Given the description of an element on the screen output the (x, y) to click on. 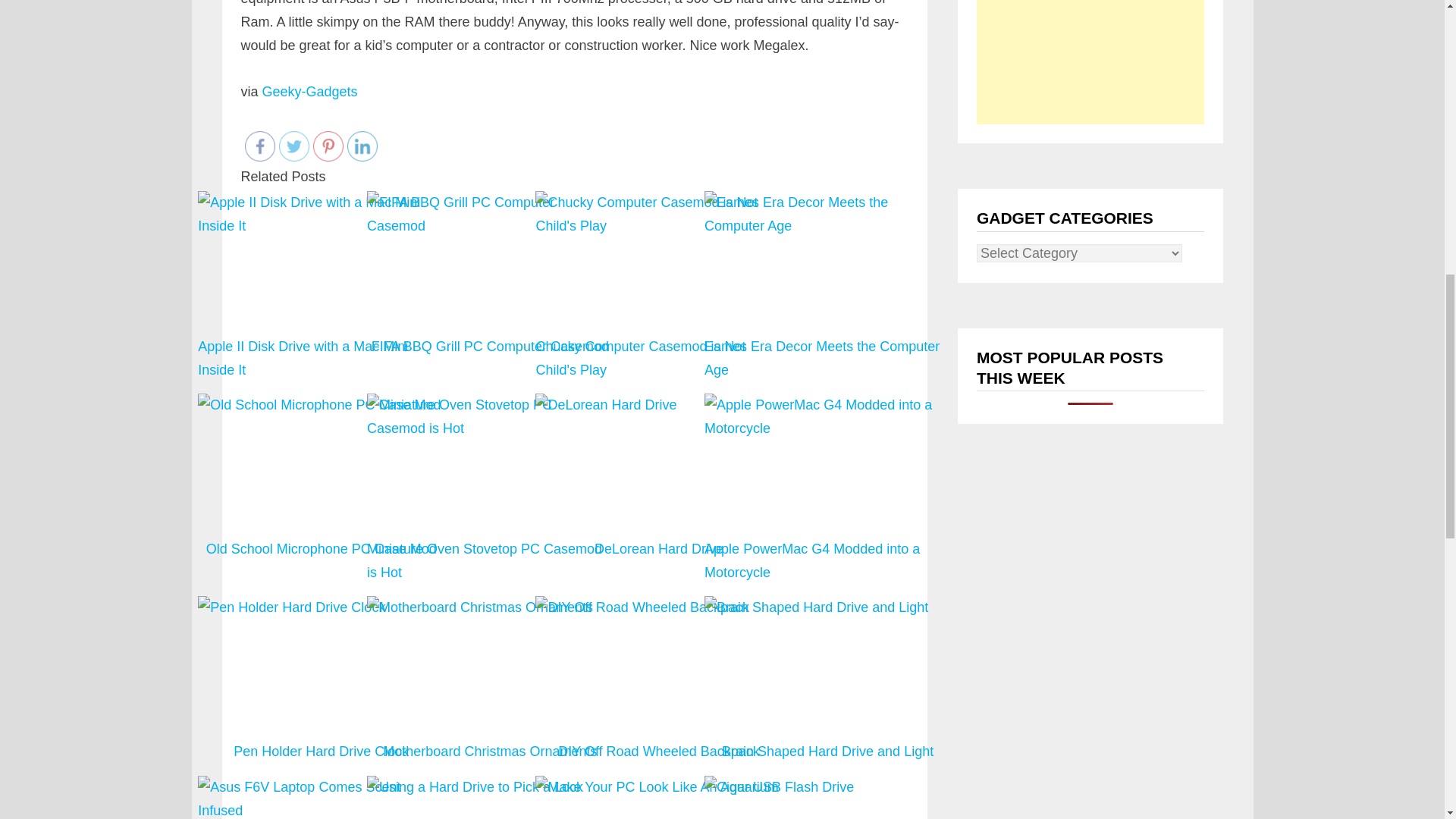
Twitter (293, 146)
LinkedIn (362, 146)
Geeky-Gadgets (310, 91)
Apple II Disk Drive with a Mac Mini Inside It (320, 286)
Using a Hard Drive to Pick a Lock (490, 796)
Asus F6V Laptop Comes Scent Infused (320, 796)
Pen Holder Hard Drive Clock (320, 679)
Cigar USB Flash Drive (827, 796)
DeLorean Hard Drive (658, 488)
Facebook (259, 146)
